Given the description of an element on the screen output the (x, y) to click on. 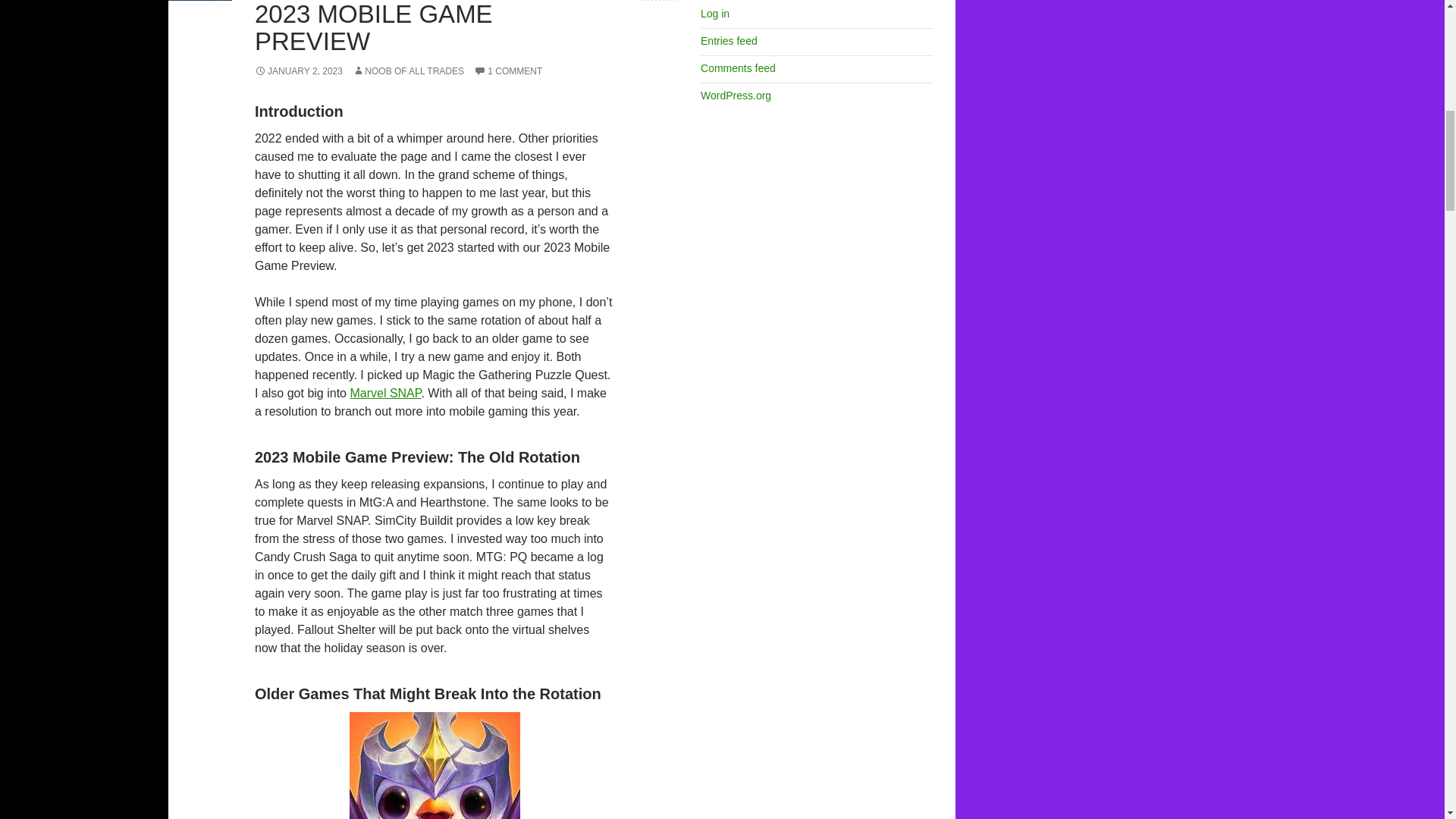
NOOB OF ALL TRADES (408, 71)
JANUARY 2, 2023 (298, 71)
1 COMMENT (507, 71)
Marvel SNAP (384, 392)
2023 MOBILE GAME PREVIEW (373, 27)
